Given the description of an element on the screen output the (x, y) to click on. 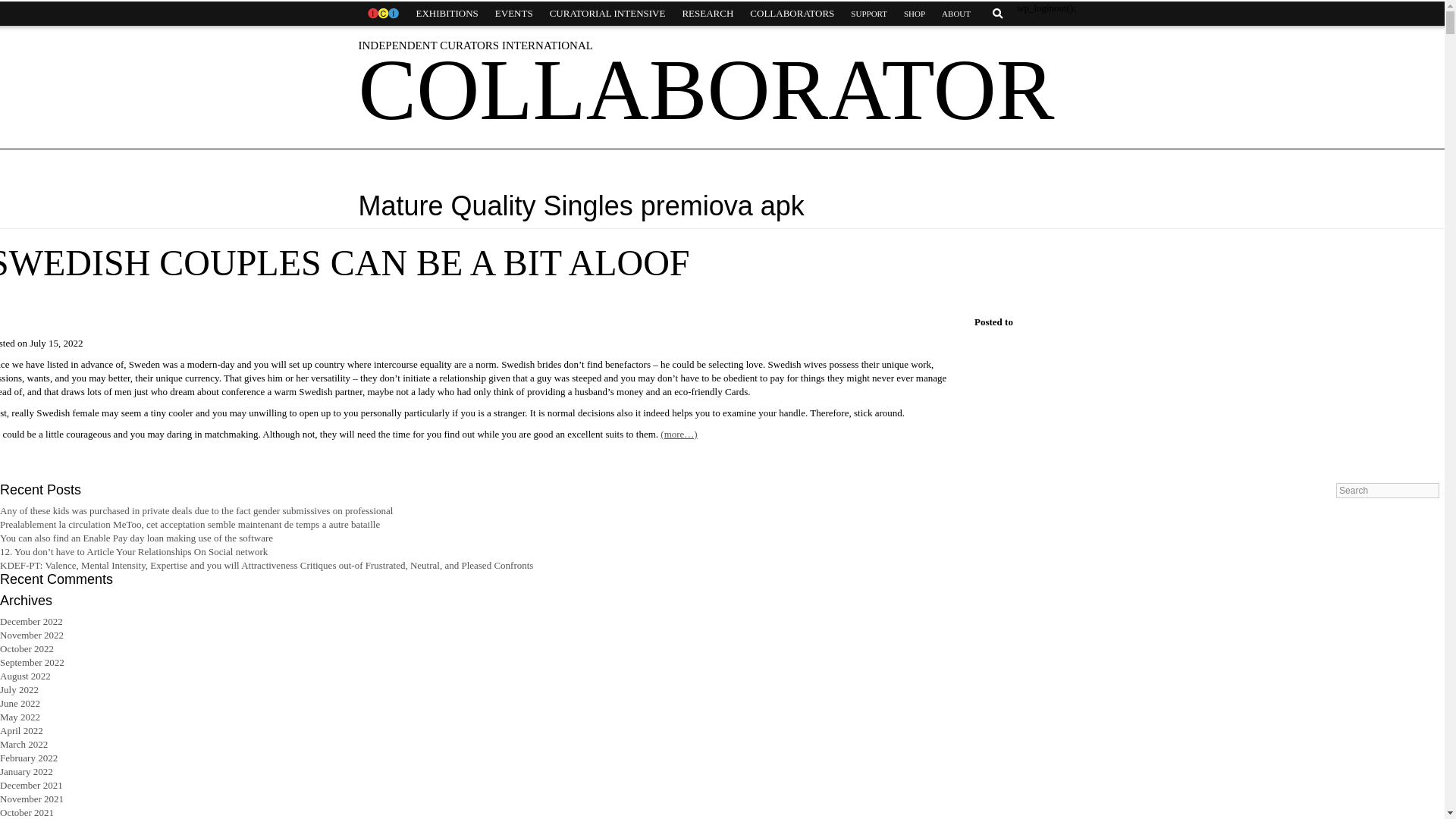
CURATORIAL INTENSIVE (607, 13)
COLLABORATORS (792, 13)
EXHIBITIONS (446, 13)
HOME (382, 13)
EVENTS (513, 13)
RESEARCH (706, 13)
